Given the description of an element on the screen output the (x, y) to click on. 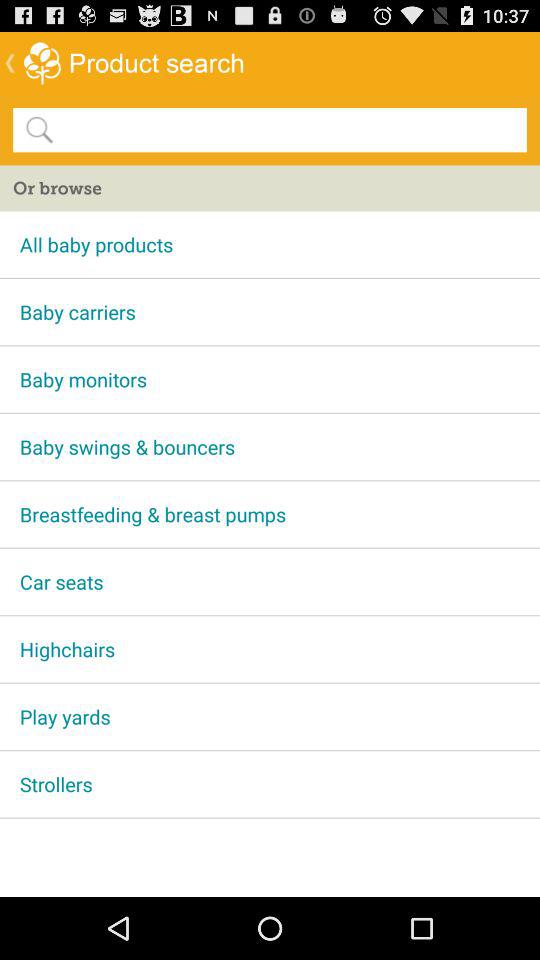
launch the baby swings & bouncers (270, 446)
